Given the description of an element on the screen output the (x, y) to click on. 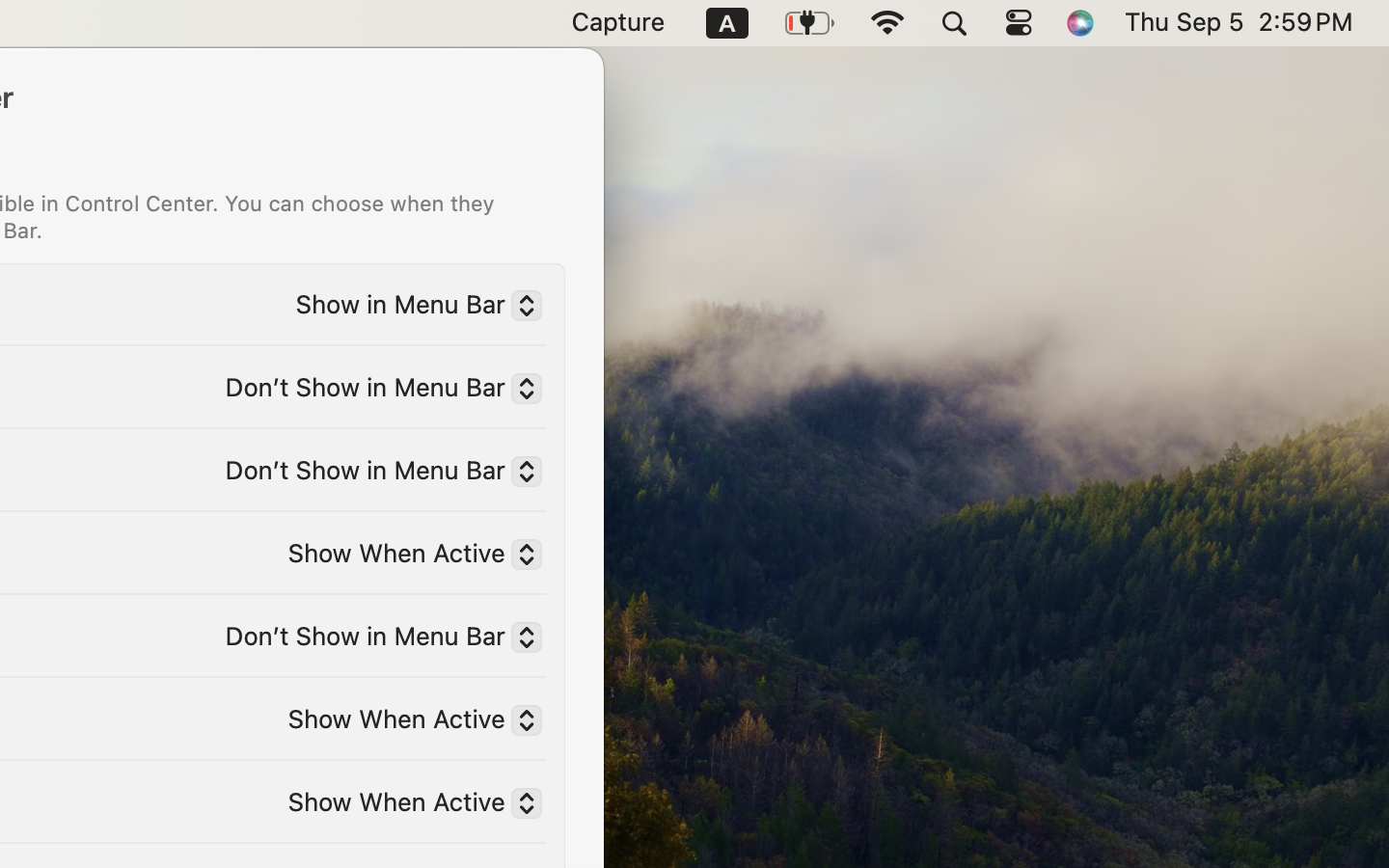
Show in Menu Bar Element type: AXPopUpButton (410, 307)
Show When Active Element type: AXPopUpButton (406, 805)
Don’t Show in Menu Bar Element type: AXPopUpButton (374, 639)
